Given the description of an element on the screen output the (x, y) to click on. 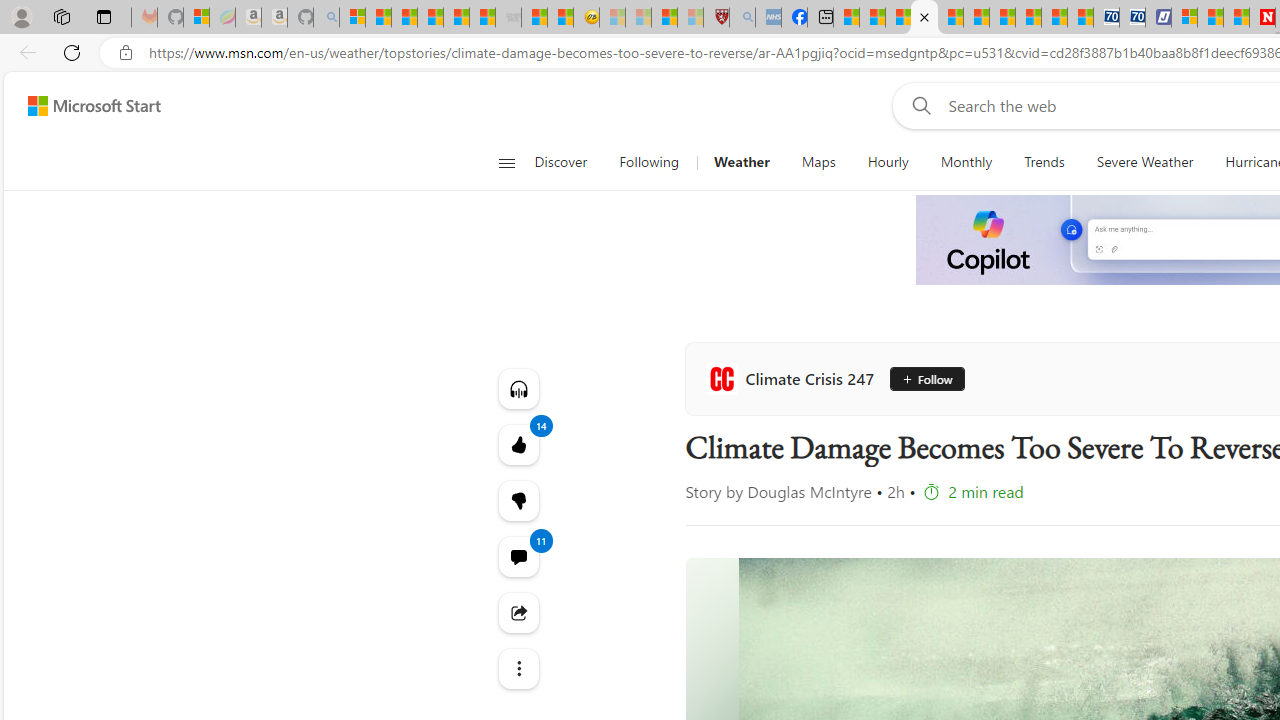
12 Popular Science Lies that Must be Corrected - Sleeping (690, 17)
Follow (927, 378)
Share this story (517, 612)
Severe Weather (1144, 162)
